Given the description of an element on the screen output the (x, y) to click on. 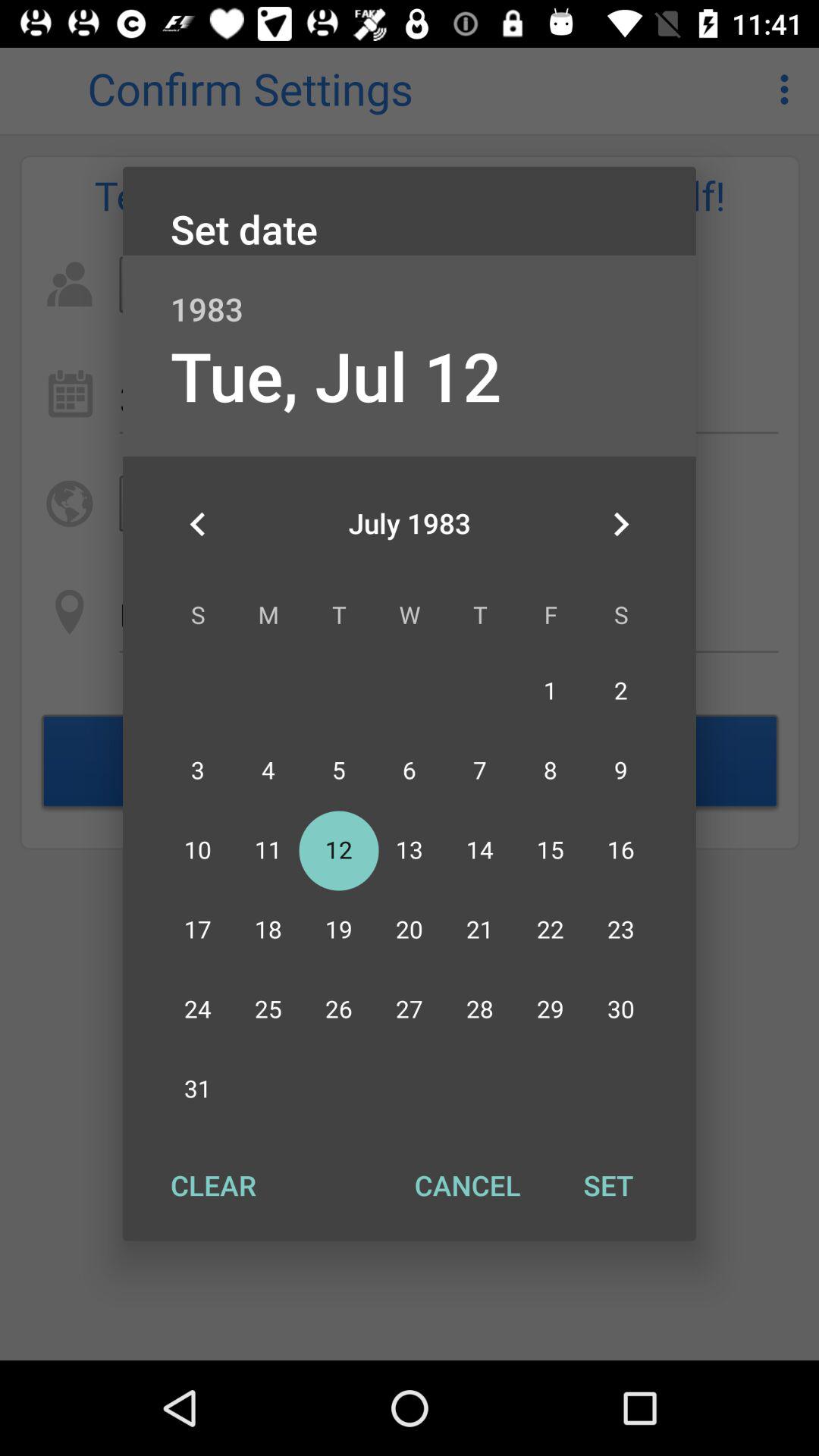
open the item above clear item (197, 524)
